Given the description of an element on the screen output the (x, y) to click on. 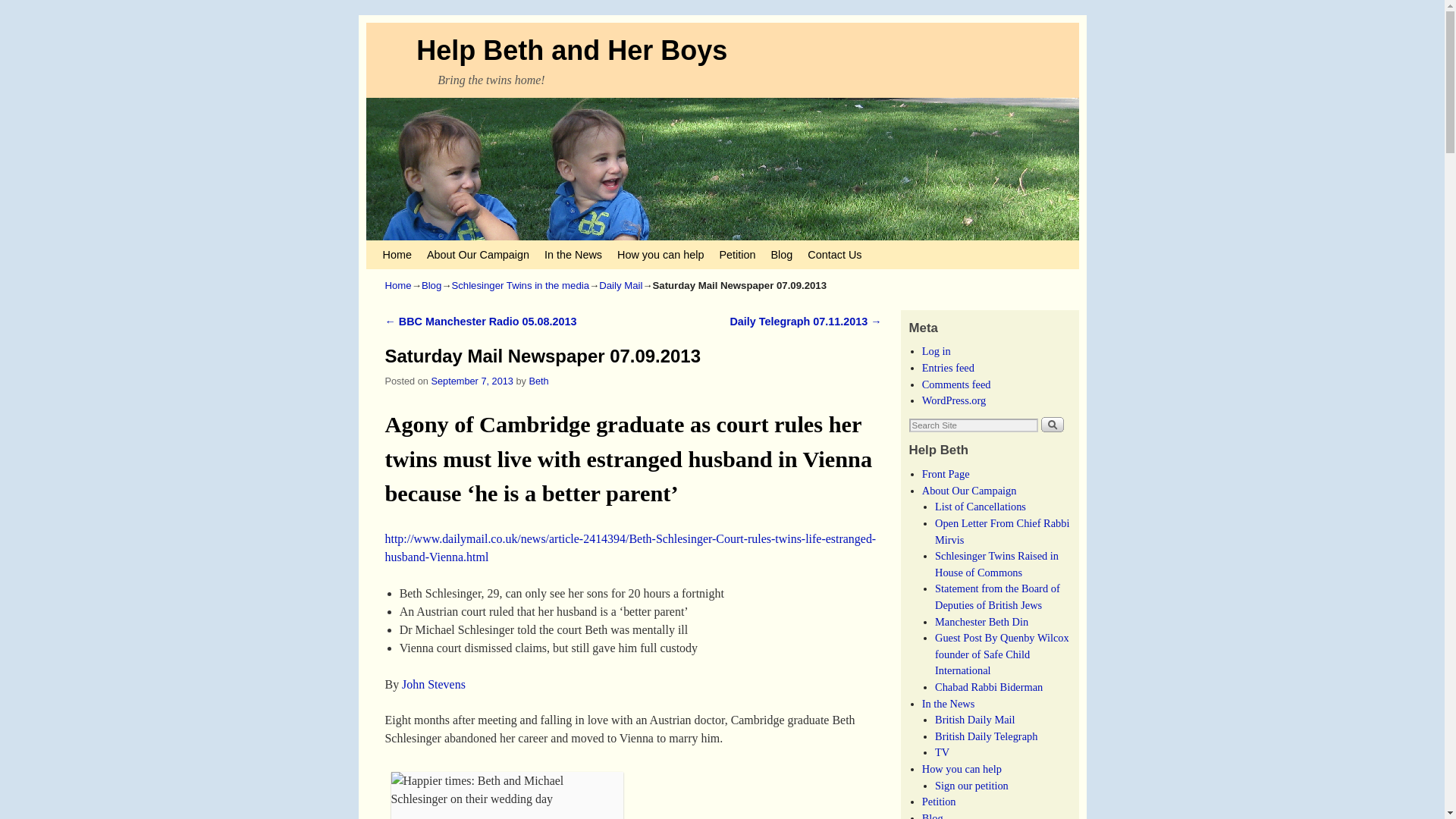
Schlesinger Twins in the media (520, 285)
Help Beth and Her Boys (571, 50)
Blog (431, 285)
Skip to secondary content (412, 246)
View all posts by Beth (538, 380)
12:38 pm (471, 380)
Daily Mail (620, 285)
How you can help (660, 254)
Home (398, 285)
Beth (538, 380)
